Given the description of an element on the screen output the (x, y) to click on. 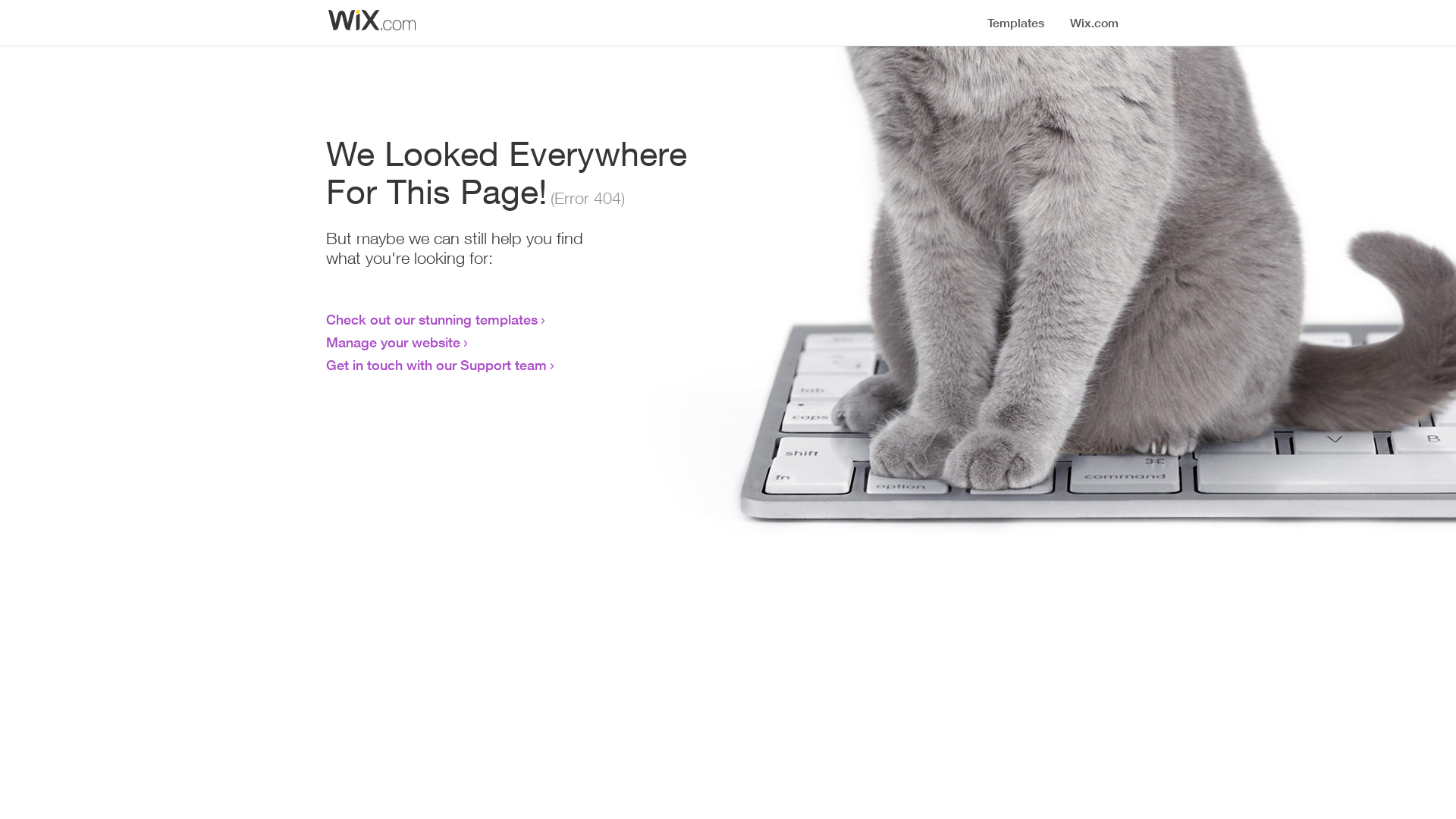
Check out our stunning templates Element type: text (431, 318)
Get in touch with our Support team Element type: text (436, 364)
Manage your website Element type: text (393, 341)
